Given the description of an element on the screen output the (x, y) to click on. 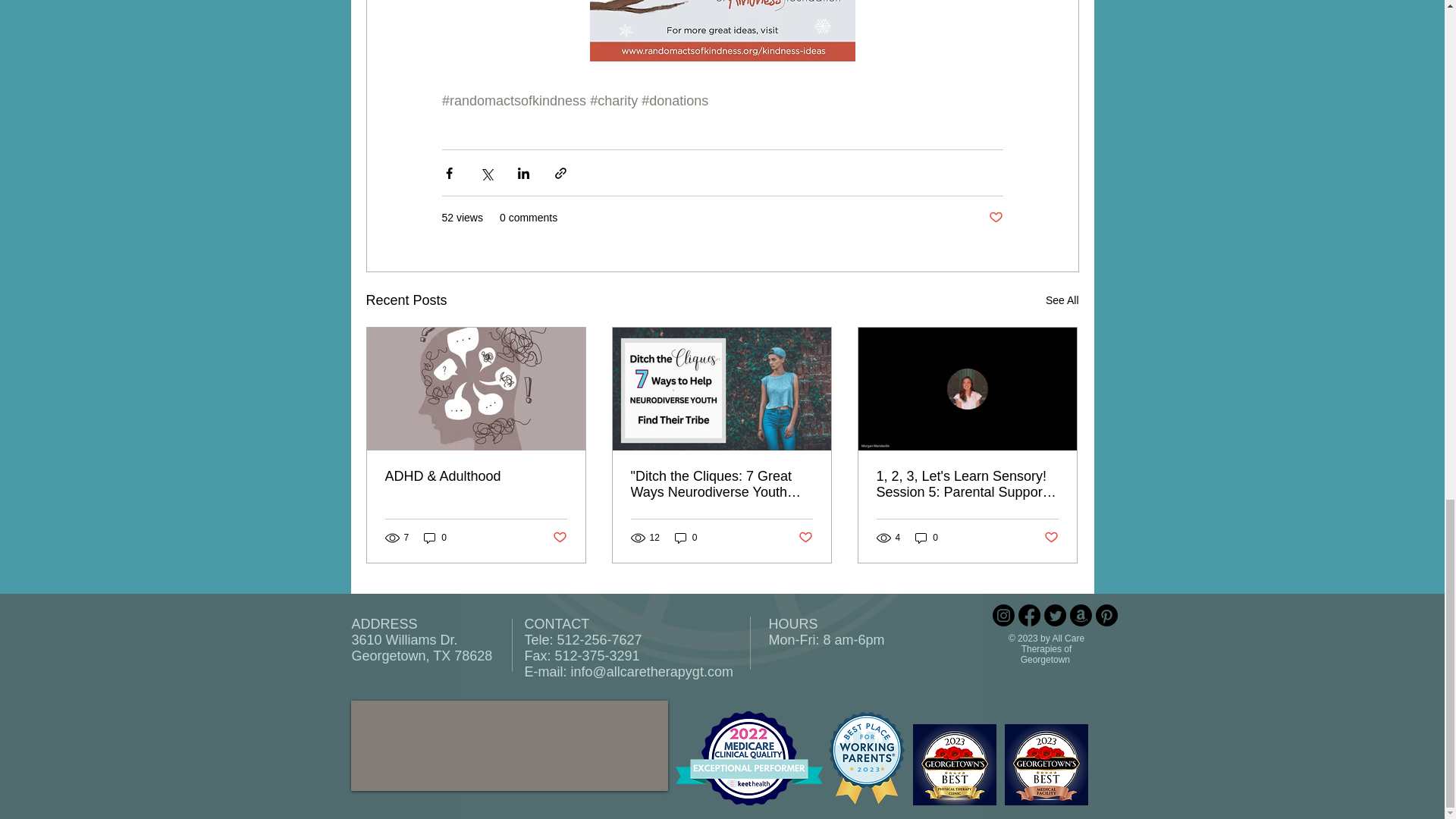
Post not marked as liked (995, 217)
Post not marked as liked (558, 537)
0 (435, 537)
See All (1061, 300)
